Given the description of an element on the screen output the (x, y) to click on. 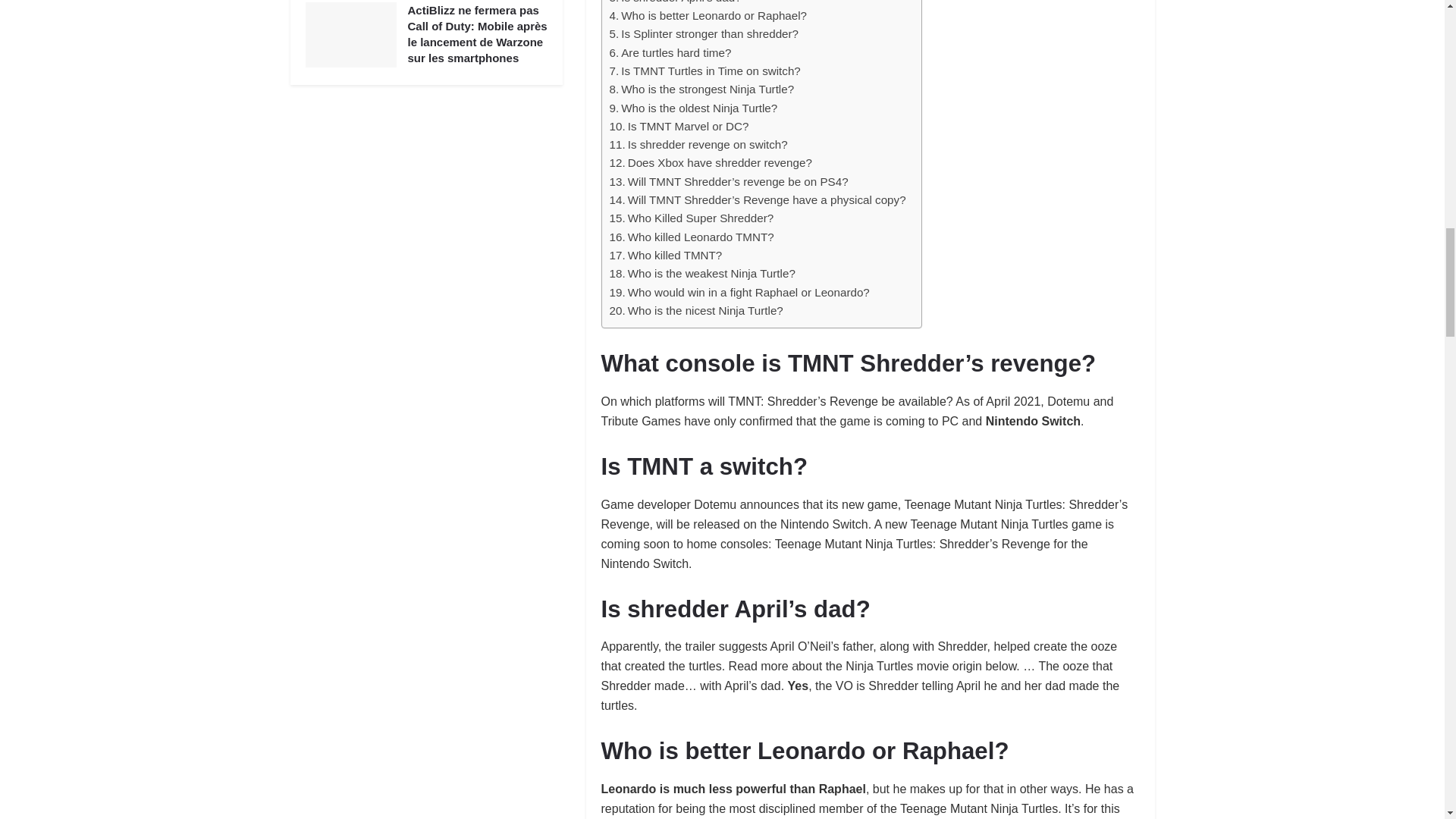
Is Splinter stronger than shredder? (704, 34)
Is shredder revenge on switch? (698, 144)
Is TMNT Turtles in Time on switch? (705, 71)
Who is the oldest Ninja Turtle? (693, 107)
Who is the strongest Ninja Turtle? (702, 89)
Does Xbox have shredder revenge? (711, 162)
Are turtles hard time? (671, 53)
Who is better Leonardo or Raphael? (709, 15)
Is TMNT Marvel or DC? (679, 126)
